Given the description of an element on the screen output the (x, y) to click on. 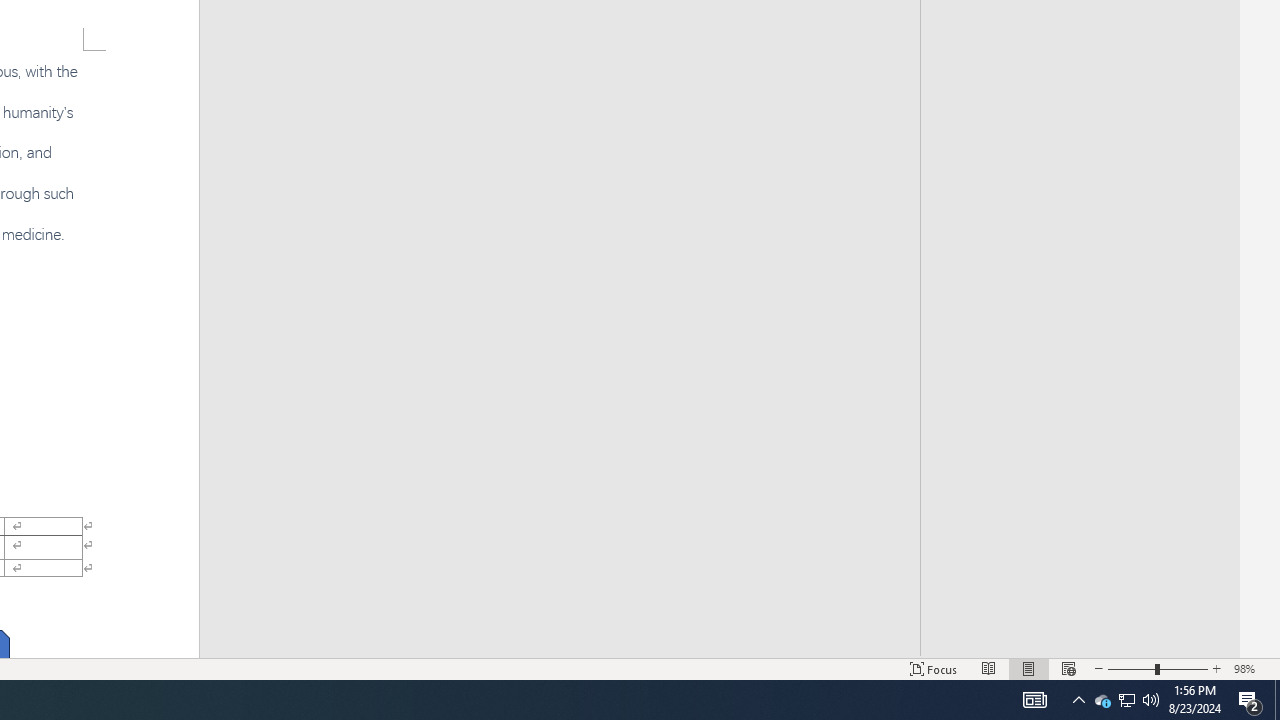
Zoom In (1217, 668)
Read Mode (988, 668)
Print Layout (1028, 668)
Zoom Out (1131, 668)
Zoom (1158, 668)
Web Layout (1069, 668)
Focus  (934, 668)
